Given the description of an element on the screen output the (x, y) to click on. 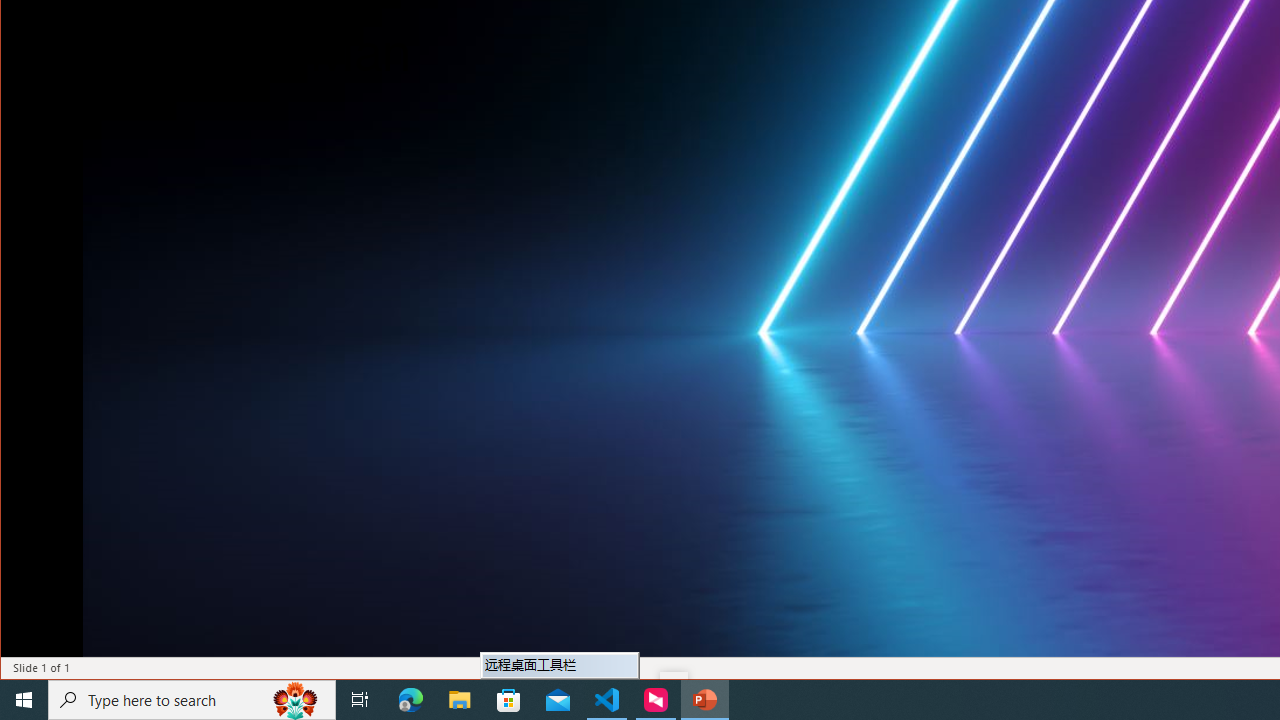
PowerPoint - 1 running window (704, 699)
Type here to search (191, 699)
Search highlights icon opens search home window (295, 699)
Visual Studio Code - 1 running window (607, 699)
Microsoft Edge (411, 699)
File Explorer (460, 699)
Microsoft Store (509, 699)
Task View (359, 699)
Start (24, 699)
